Given the description of an element on the screen output the (x, y) to click on. 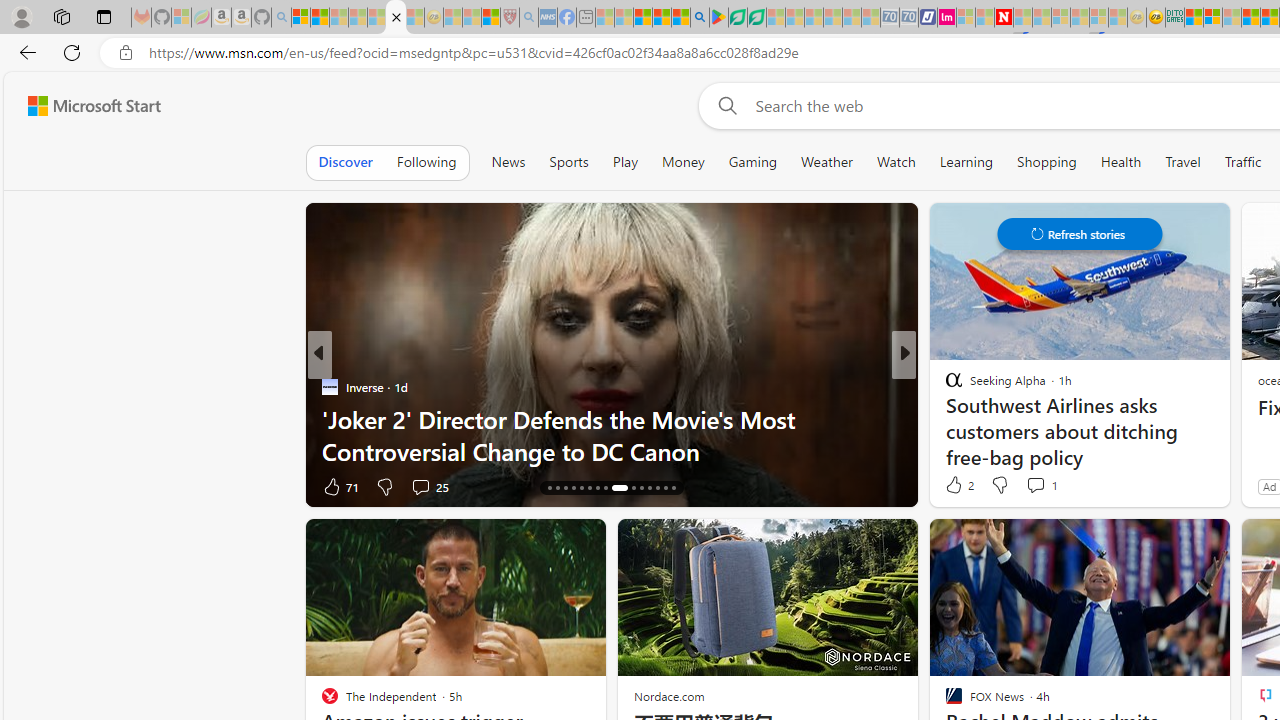
AutomationID: tab-26 (641, 487)
Travel (1183, 162)
Weather (826, 162)
14 Common Myths Debunked By Scientific Facts - Sleeping (1041, 17)
Microsoft account | Privacy - Sleeping (966, 17)
Watch (895, 161)
NCL Adult Asthma Inhaler Choice Guideline - Sleeping (547, 17)
Workspaces (61, 16)
Jobs - lastminute.com Investor Portal (947, 17)
View comments 1 Comment (1041, 484)
Microsoft Word - consumer-privacy address update 2.2021 (756, 17)
